Given the description of an element on the screen output the (x, y) to click on. 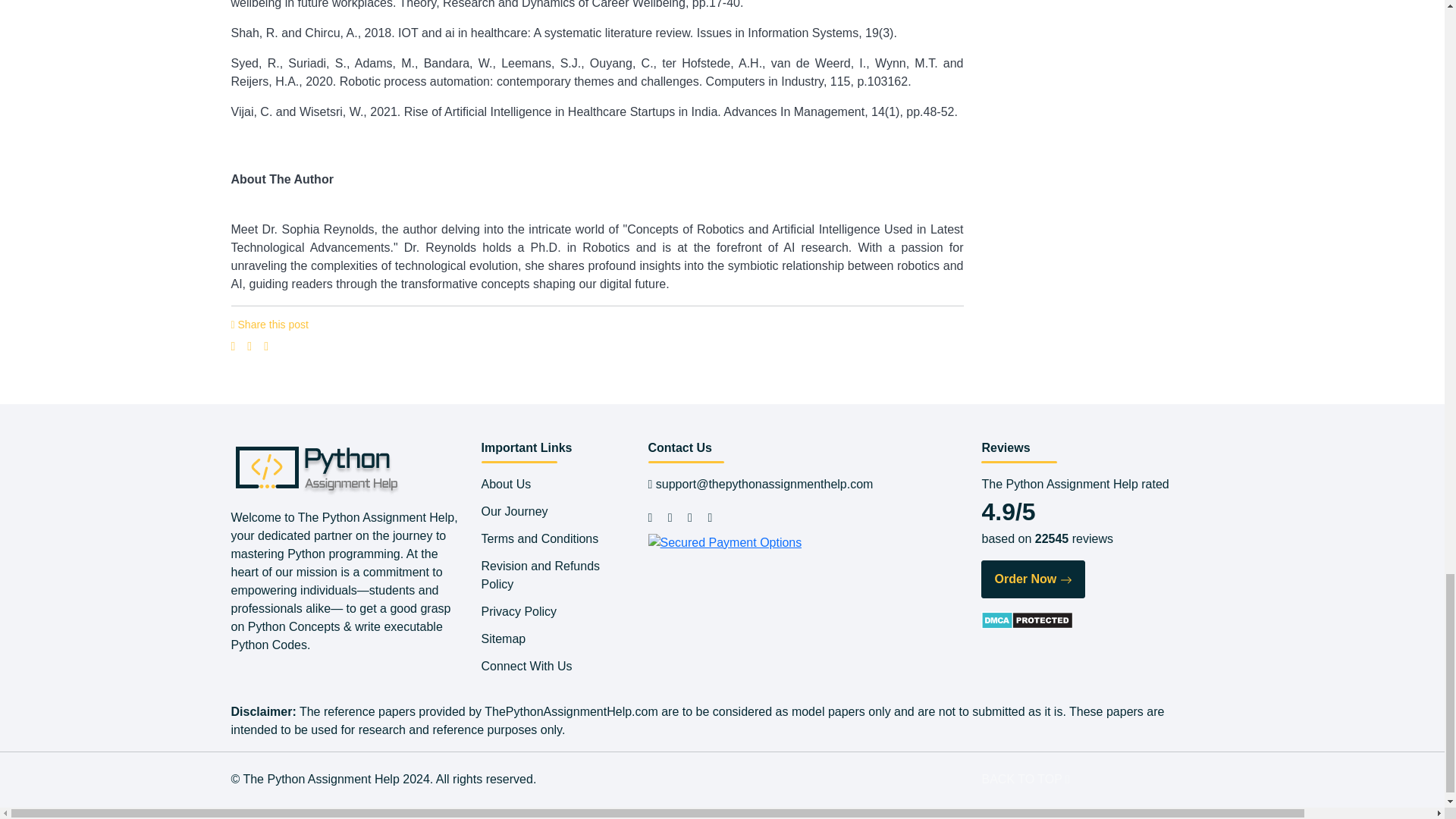
DMCA.com Protection Status (1027, 618)
